Given the description of an element on the screen output the (x, y) to click on. 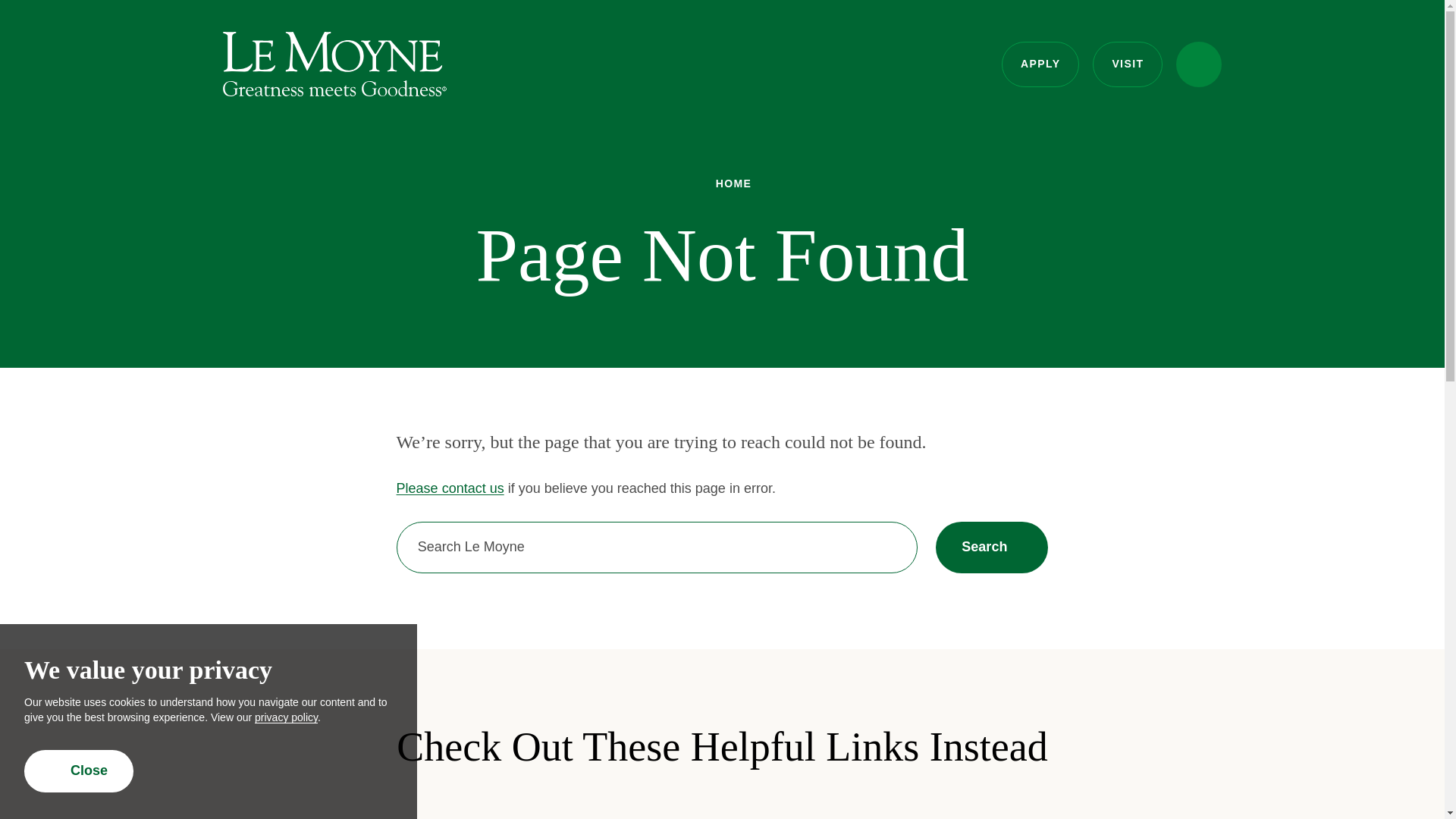
Undergraduate Programs (78, 771)
MENU (722, 805)
APPLY (1198, 63)
Graduate Programs (1039, 63)
VISIT (1068, 805)
Le Moyne College (1127, 63)
privacy policy (334, 63)
Search (285, 717)
HOME (992, 547)
Please contact us (722, 183)
